Given the description of an element on the screen output the (x, y) to click on. 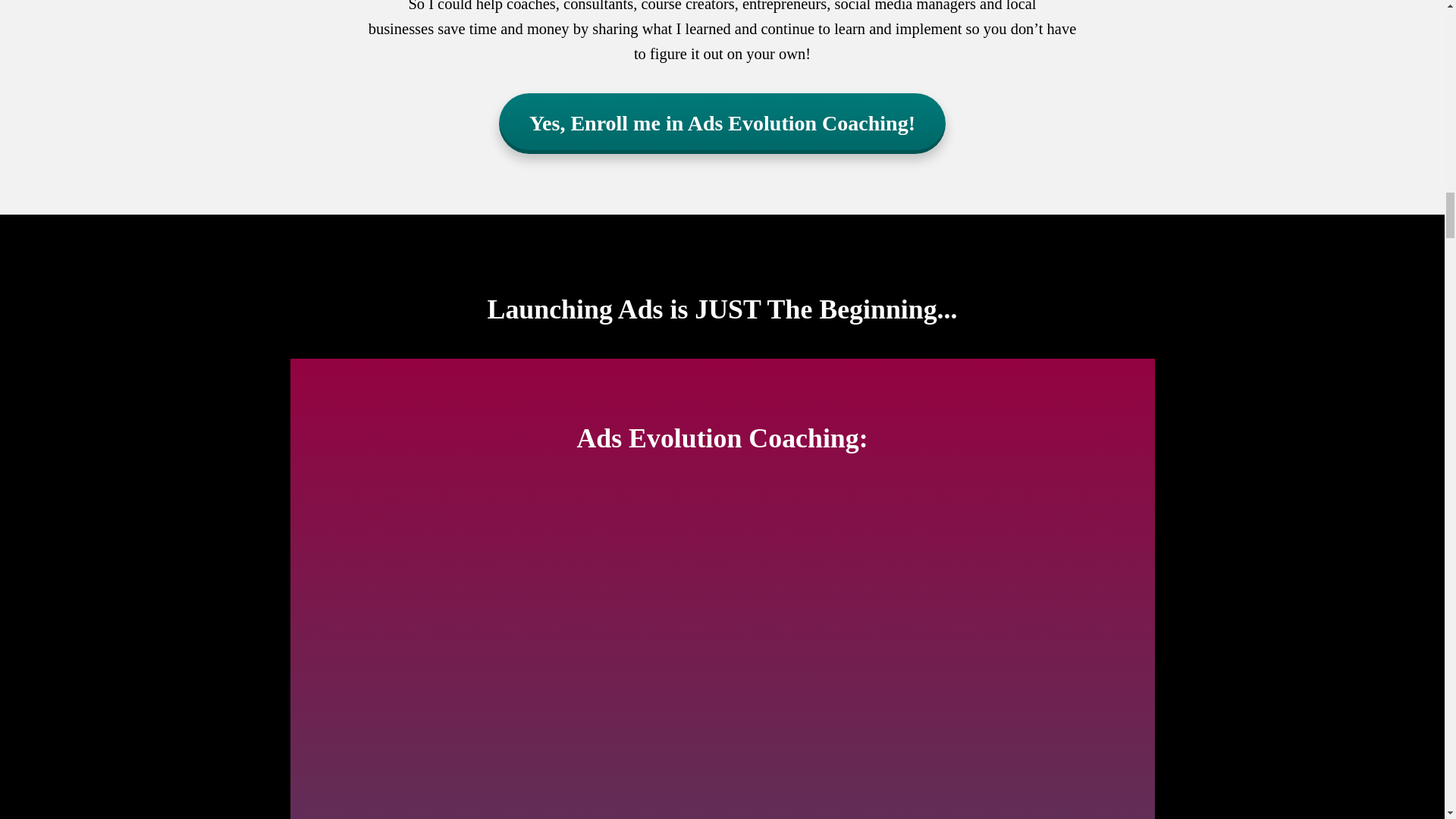
Yes, Enroll me in Ads Evolution Coaching! (721, 123)
